Given the description of an element on the screen output the (x, y) to click on. 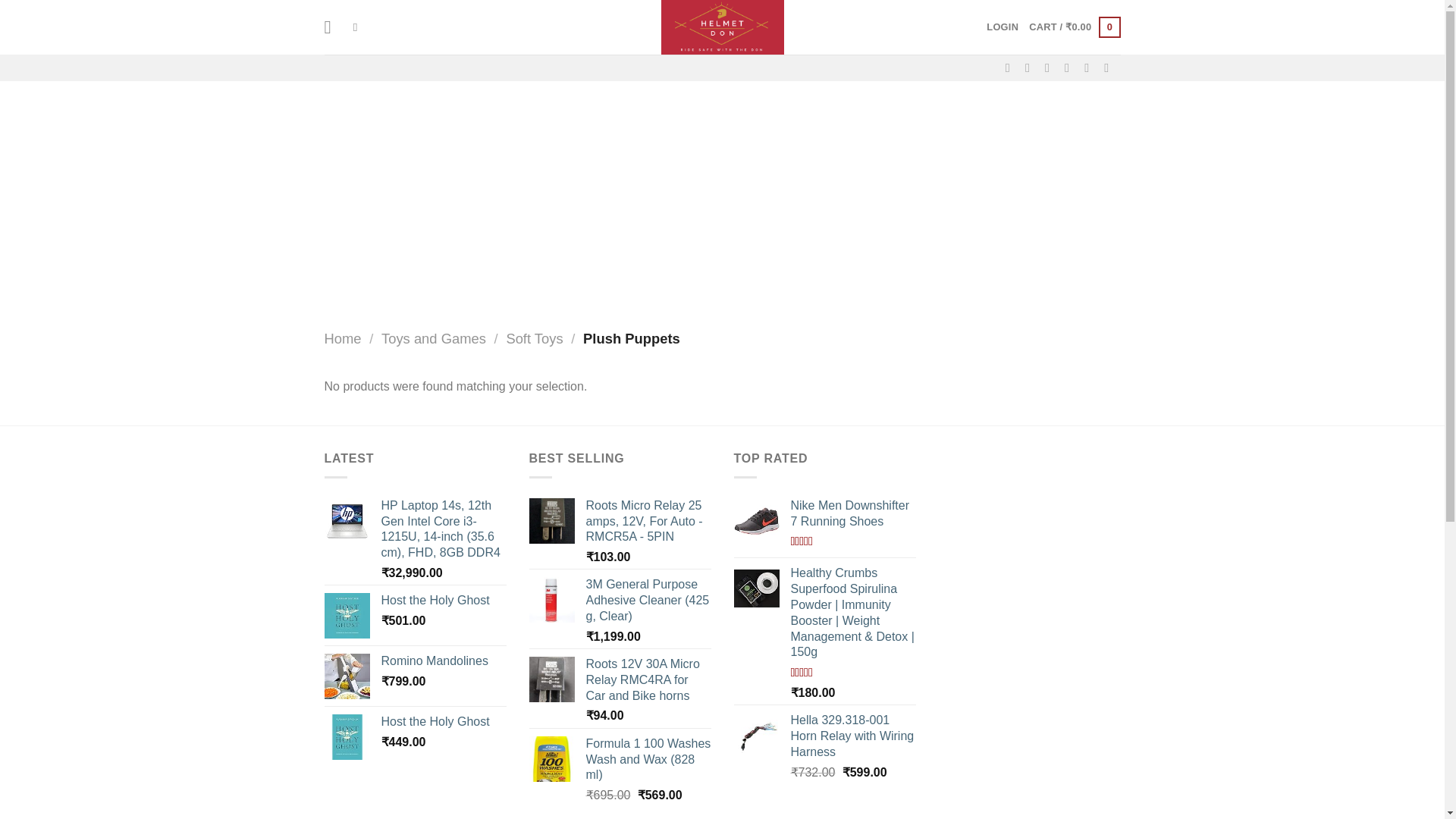
Soft Toys (533, 338)
Follow on LinkedIn (1090, 67)
Home (342, 338)
Host the Holy Ghost 2 (346, 615)
Nike Men Downshifter 7 Running Shoes (852, 513)
LOGIN (1002, 27)
Helmet Don - Ride Safe With The Don (722, 27)
Follow on YouTube (1109, 67)
Roots Micro Relay 25 amps, 12V, For Auto - RMCR5A - 5PIN 5 (552, 520)
Cart (1074, 26)
Roots Micro Relay 25 amps, 12V, For Auto - RMCR5A - 5PIN (647, 521)
Romino Mandolines 3 (346, 676)
Toys and Games (433, 338)
Romino Mandolines (442, 661)
